Given the description of an element on the screen output the (x, y) to click on. 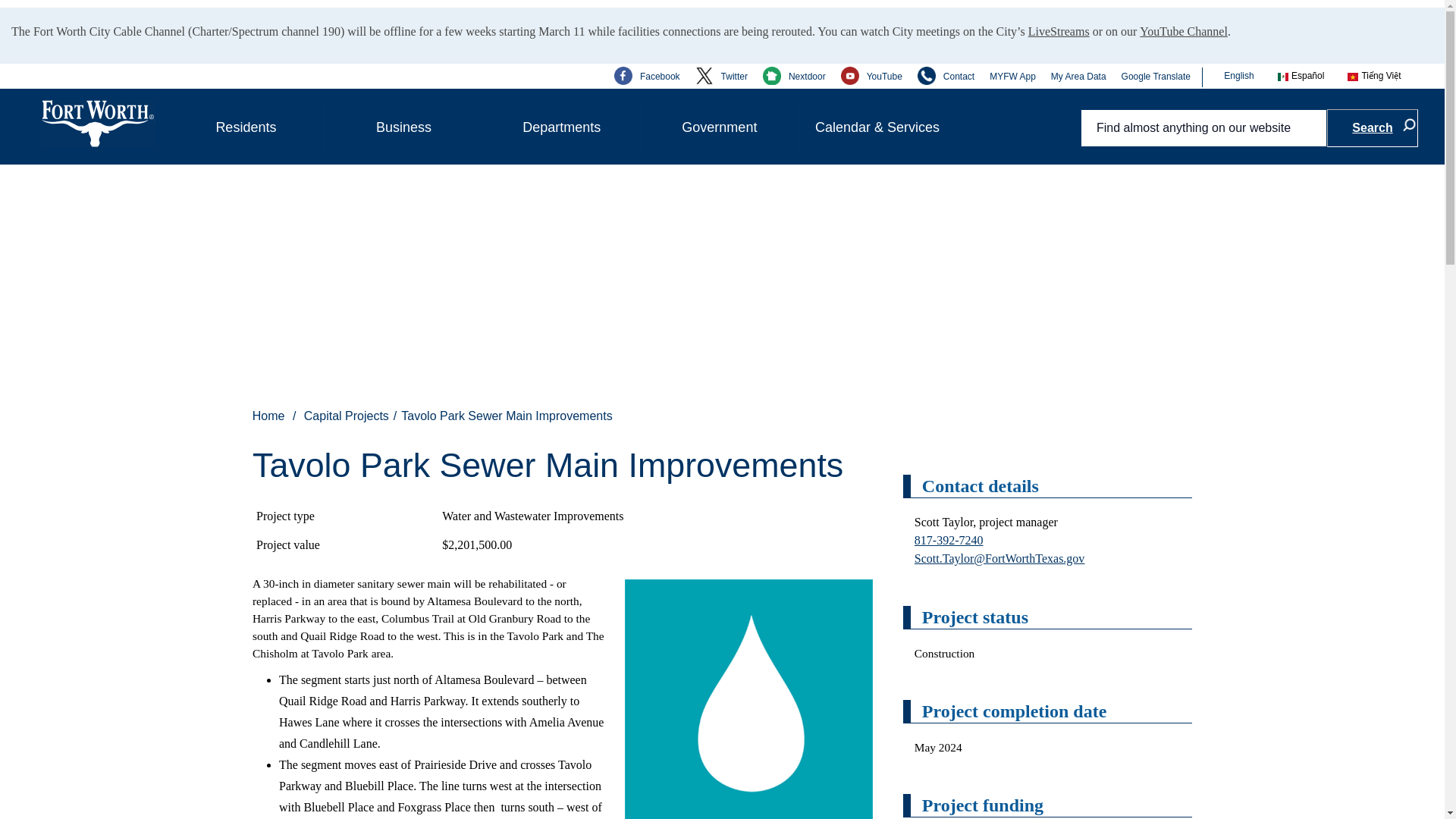
My Area Data (1078, 76)
YouTube Channel (1183, 27)
Residents (245, 127)
Search (1372, 127)
Search (1372, 127)
Contact (945, 76)
Facebook (646, 76)
Nextdoor (793, 76)
Google Translate (1156, 76)
Twitter (721, 76)
YouTube (871, 76)
City of Fort Worth - Home - Logo (98, 123)
LiveStreams (1058, 27)
MYFW App (1012, 76)
